Given the description of an element on the screen output the (x, y) to click on. 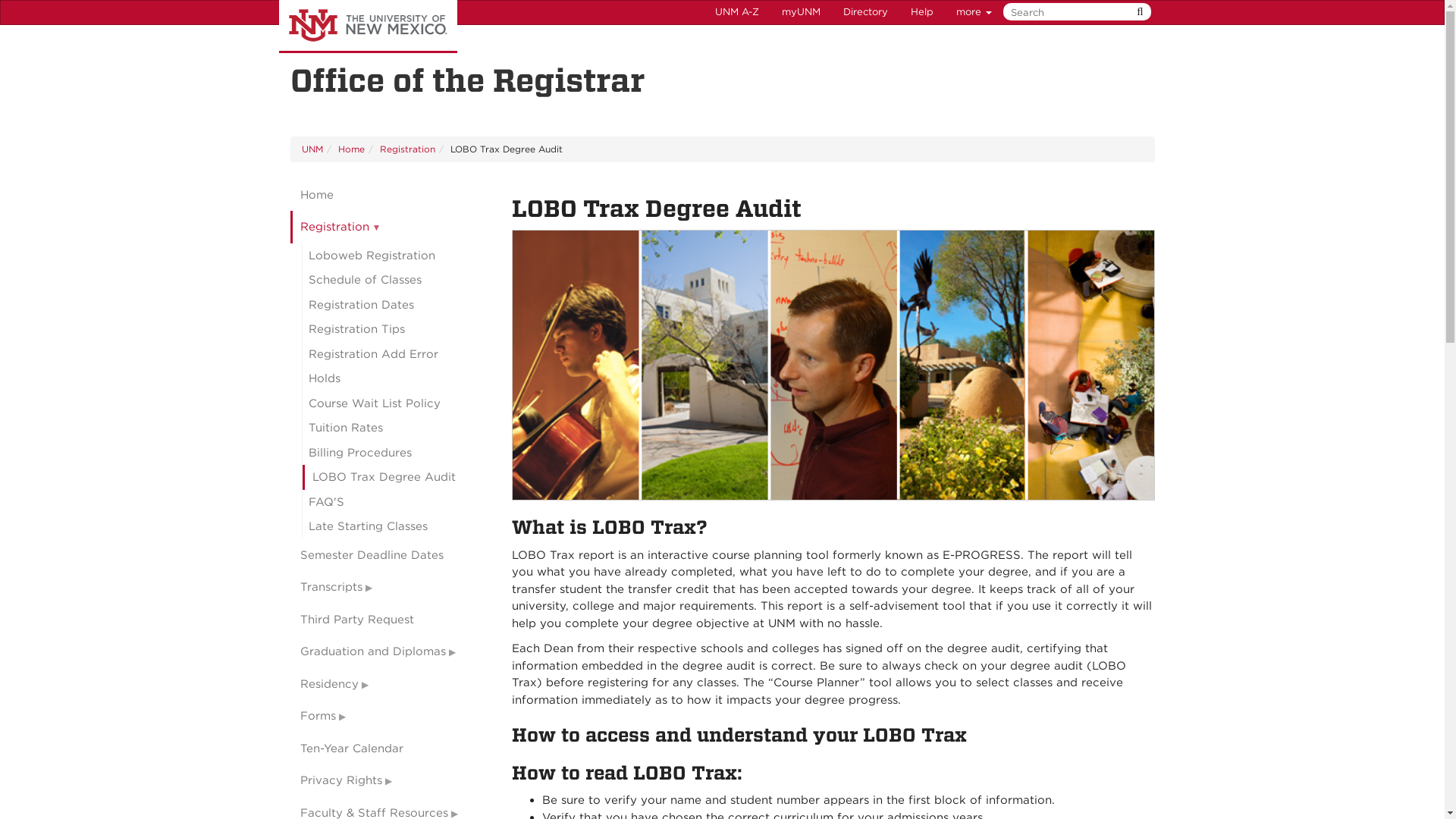
input search query here (1073, 12)
Registration Dates (395, 304)
Registration - Schedule of Classes (395, 279)
Loboweb Registration (395, 255)
Registration (389, 226)
UNM A-Z (736, 11)
Registration - Registration Add Error (395, 354)
Directory (865, 11)
The University of New Mexico (368, 26)
Help (921, 11)
Schedule of Classes (395, 279)
Registration Tips (395, 329)
Registration Submenu (389, 226)
UNM (312, 148)
Semester Deadline Dates (389, 554)
